Given the description of an element on the screen output the (x, y) to click on. 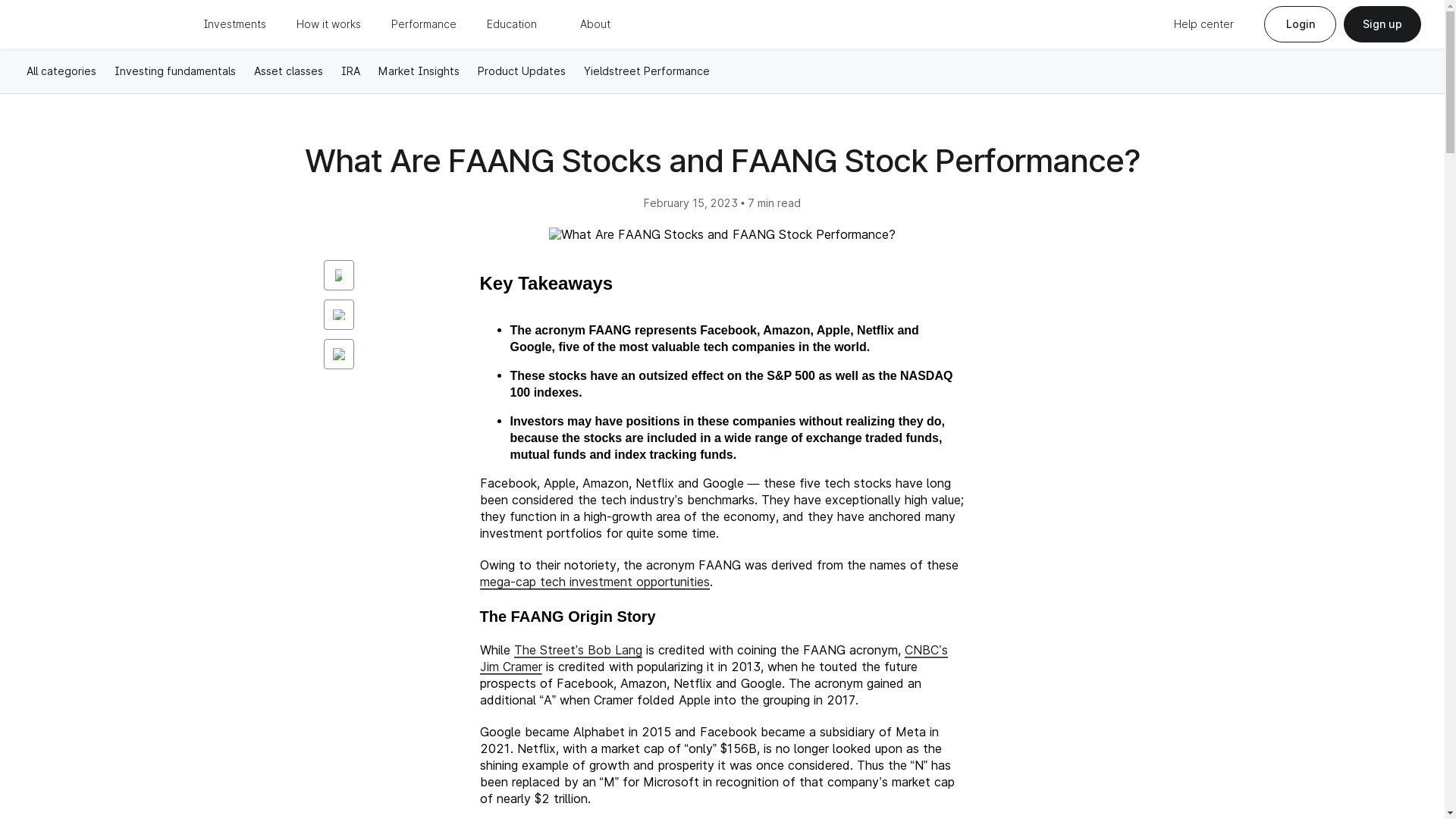
How it works (329, 24)
About (594, 24)
Performance (424, 24)
Education (511, 24)
Investments (234, 24)
